Given the description of an element on the screen output the (x, y) to click on. 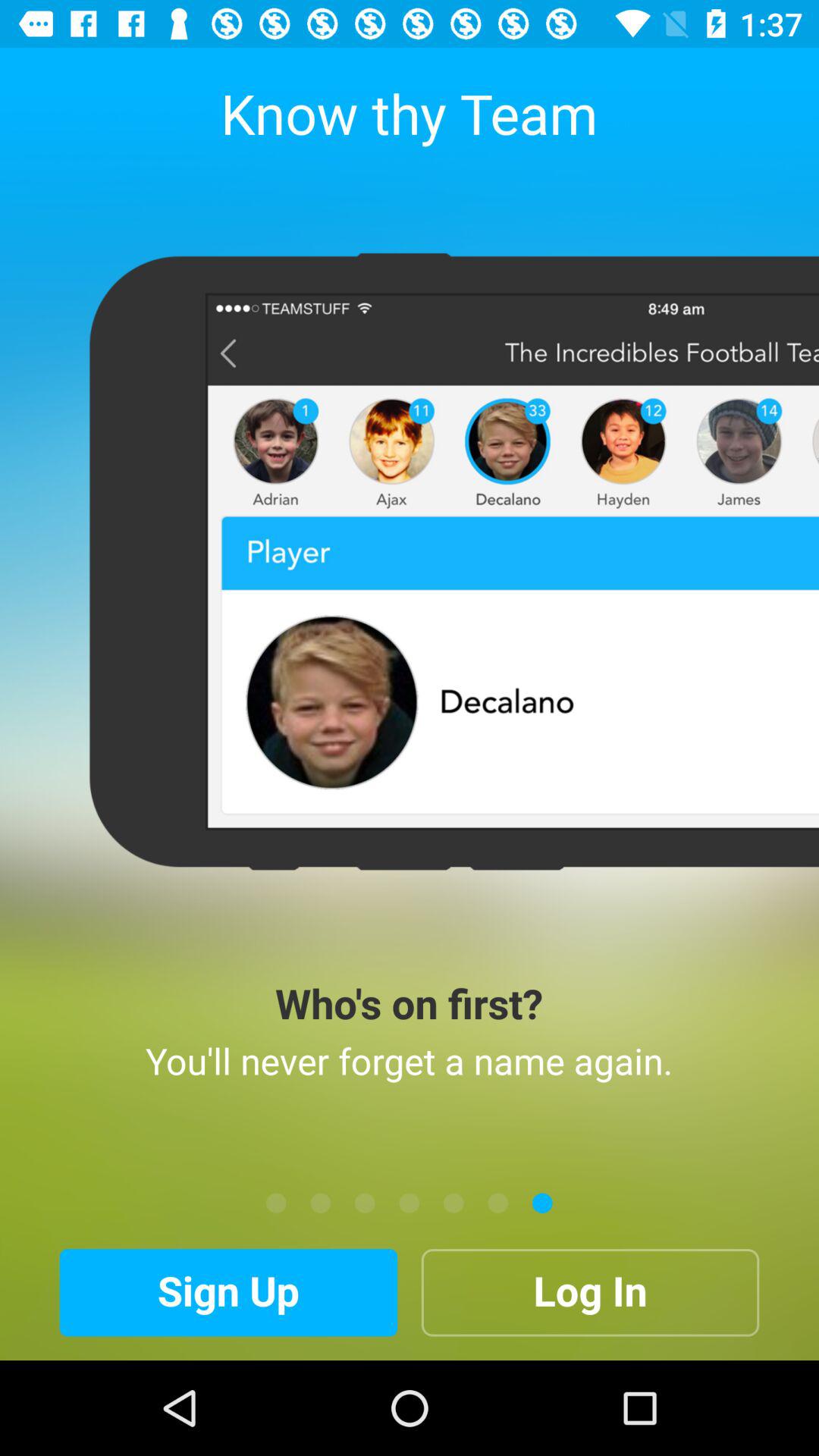
tap the item above the sign up icon (409, 1203)
